Given the description of an element on the screen output the (x, y) to click on. 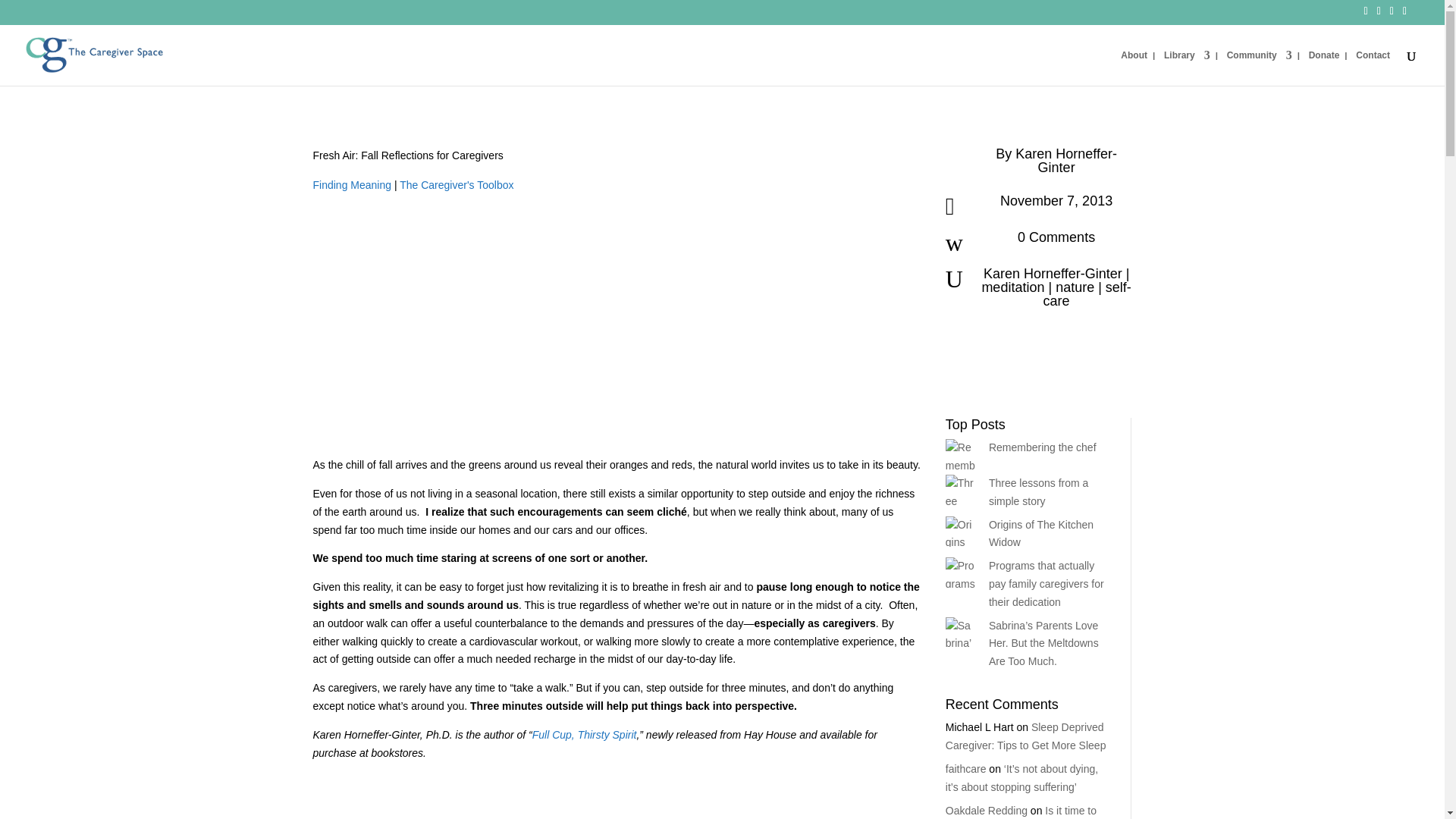
meditation (1012, 287)
Karen Horneffer-Ginter (1053, 273)
Contact (1372, 67)
Is it time to consider assisted living? (1020, 811)
Finding Meaning (352, 184)
The Caregiver's Toolbox (455, 184)
Remembering the chef (1042, 447)
Karen Horneffer-Ginter (1065, 159)
faithcare (965, 768)
Three lessons from a simple story (1038, 491)
